Given the description of an element on the screen output the (x, y) to click on. 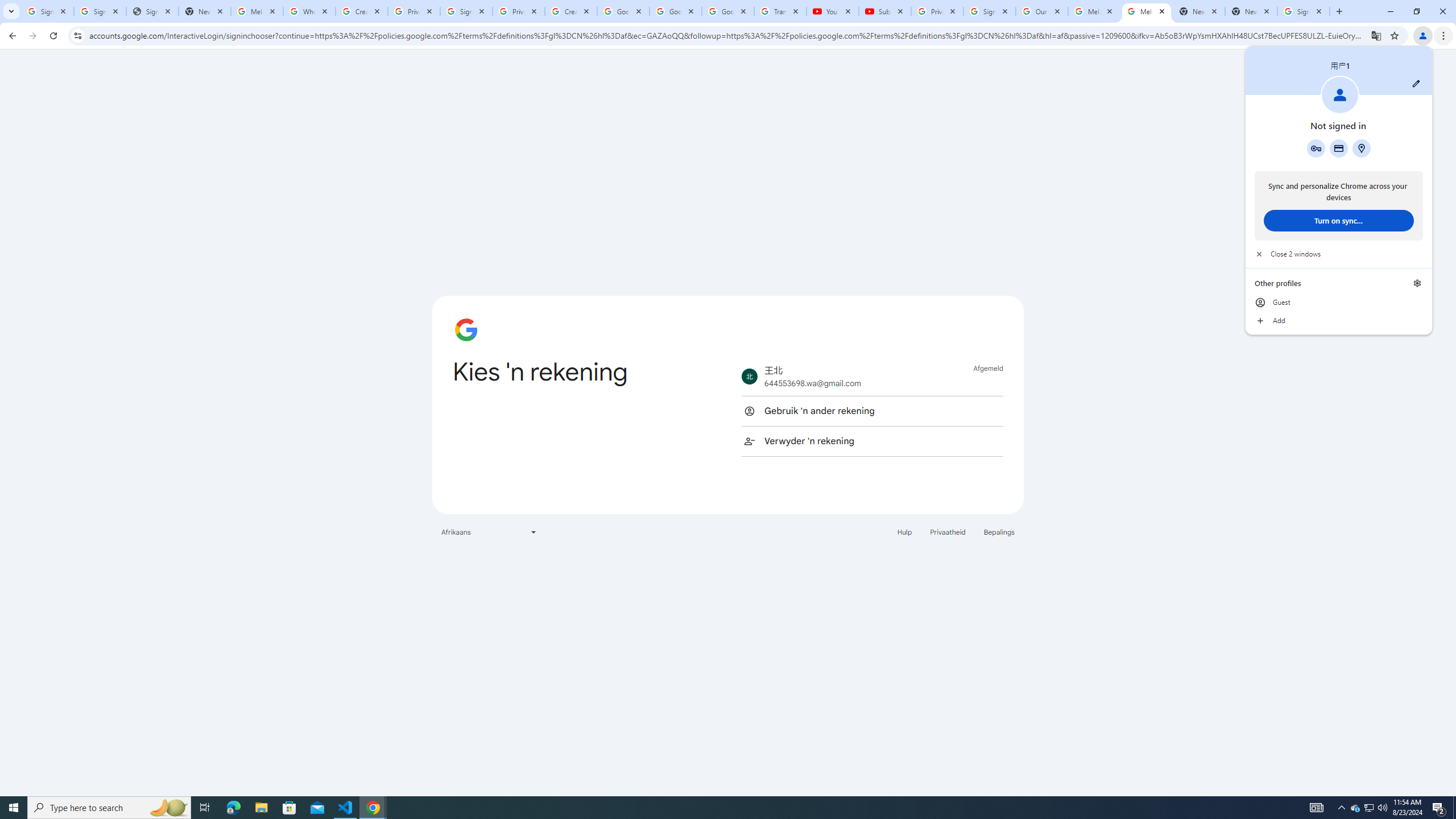
User Promoted Notification Area (1368, 807)
Search highlights icon opens search home window (167, 807)
Q2790: 100% (1382, 807)
Google Chrome - 2 running windows (373, 807)
Subscriptions - YouTube (884, 11)
Close 2 windows (1338, 253)
YouTube (831, 11)
Guest (1338, 302)
Privaatheid (947, 531)
Create your Google Account (361, 11)
Who is my administrator? - Google Account Help (309, 11)
